Given the description of an element on the screen output the (x, y) to click on. 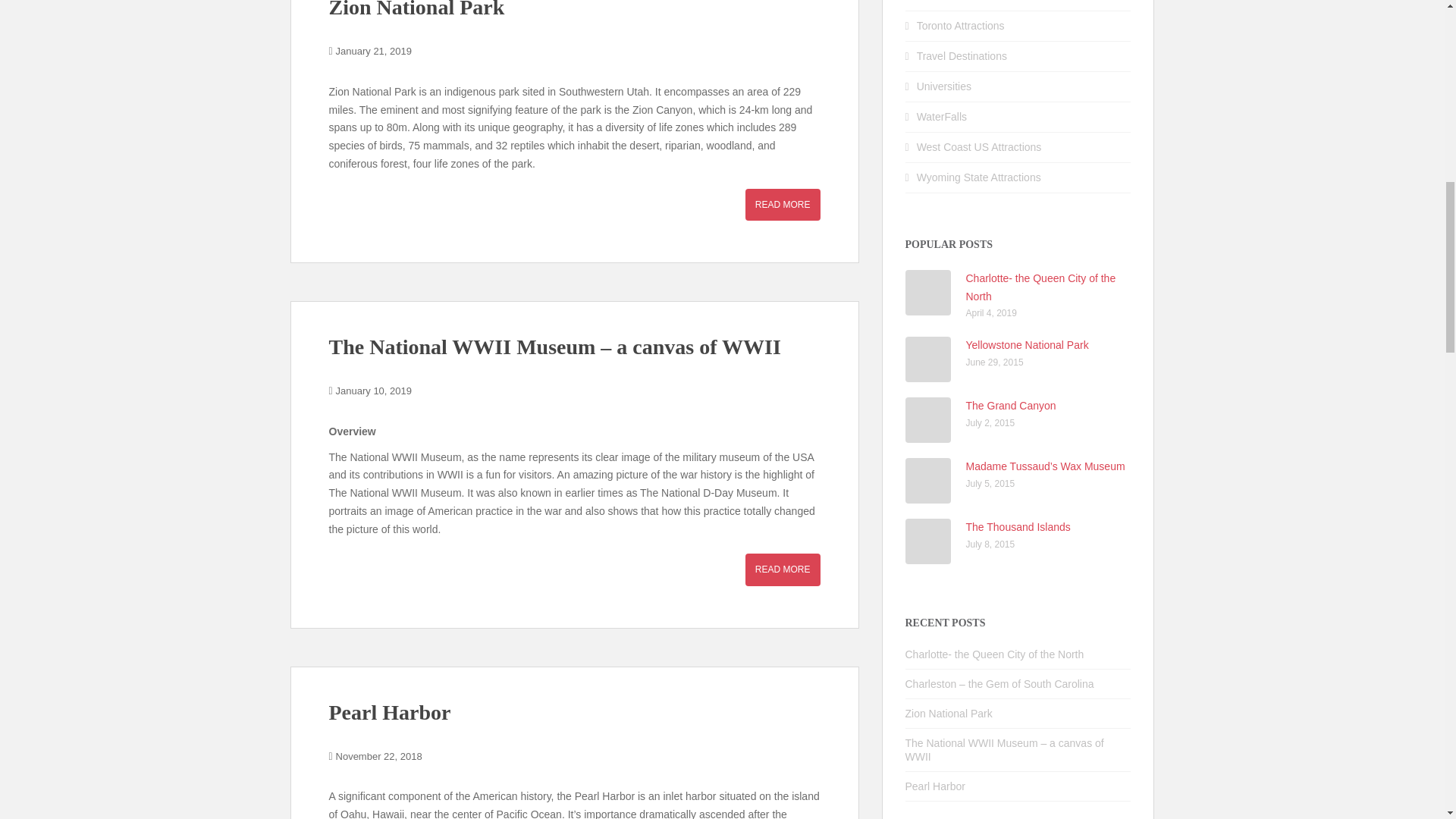
READ MORE (783, 204)
Zion National Park (417, 9)
Pearl Harbor (390, 712)
January 10, 2019 (374, 390)
November 22, 2018 (379, 756)
READ MORE (783, 569)
January 21, 2019 (374, 50)
